Given the description of an element on the screen output the (x, y) to click on. 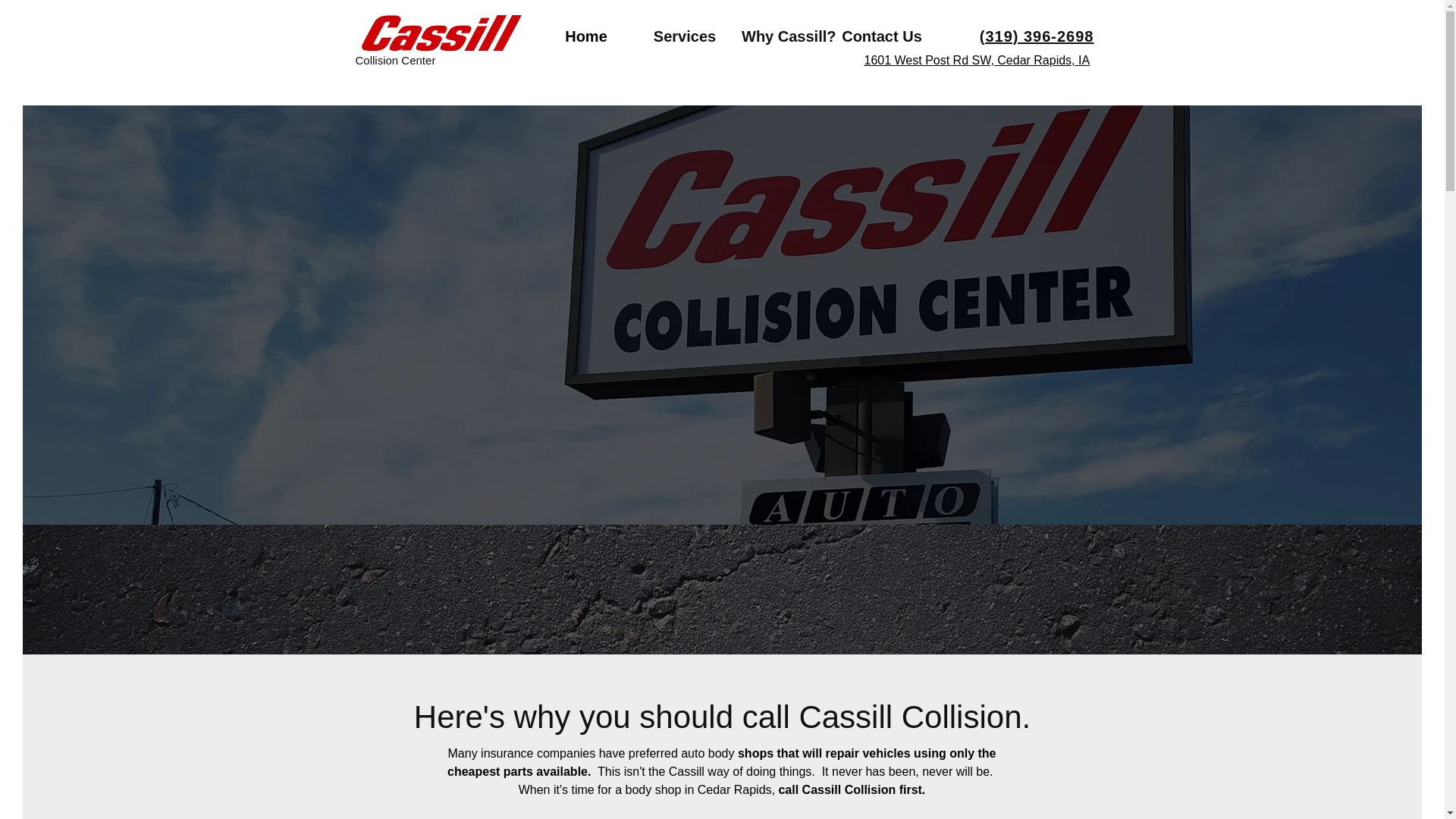
Home (585, 36)
Services (683, 36)
Why Cassill? (782, 36)
Contact Us (881, 36)
1601 West Post Rd SW, Cedar Rapids, IA (977, 60)
Collision Center (395, 60)
